Given the description of an element on the screen output the (x, y) to click on. 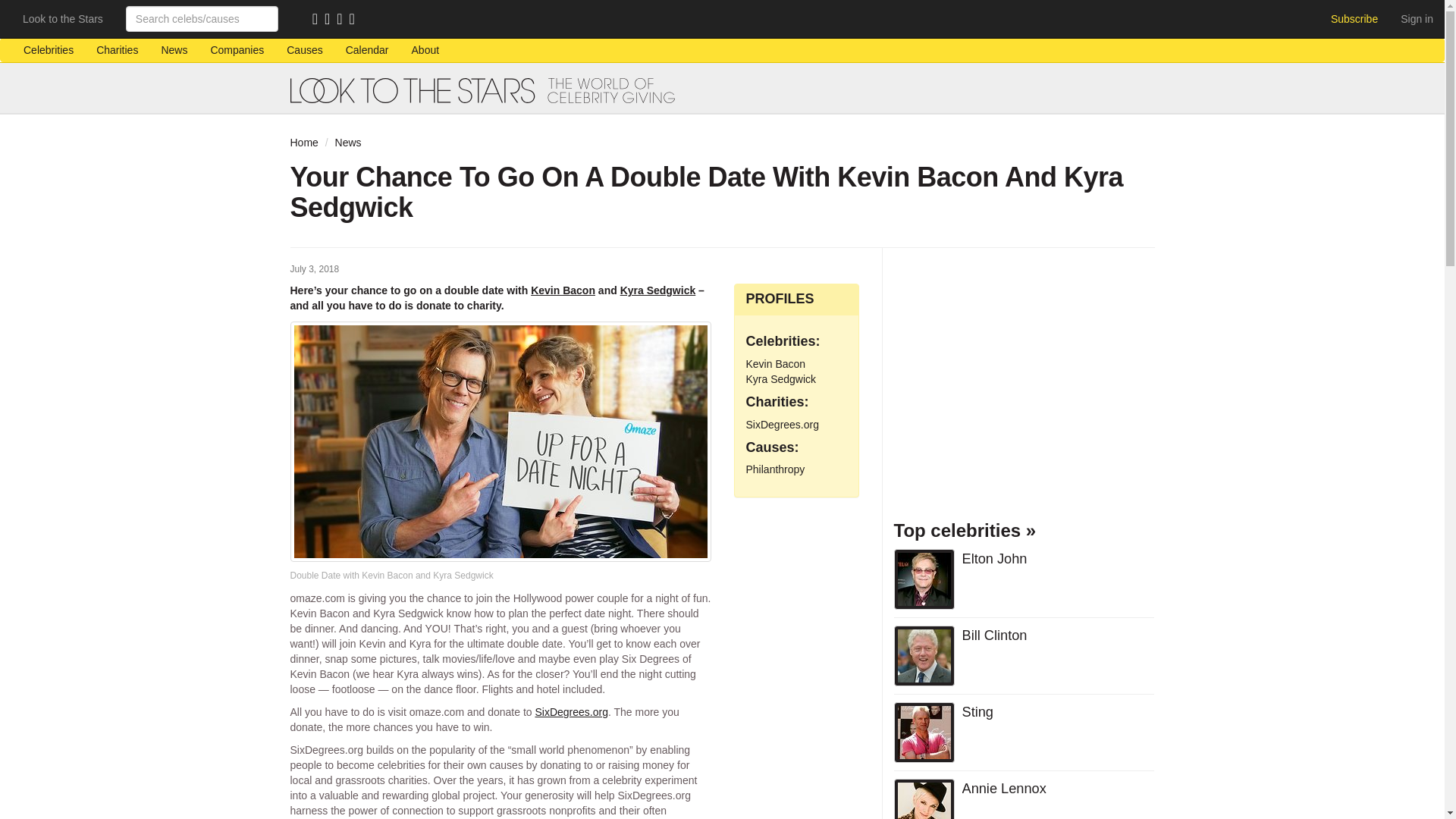
Get our news by email (330, 20)
News (347, 142)
Kyra Sedgwick (780, 378)
Charities (116, 49)
2396 charities with celebrity supporters (116, 49)
Kevin Bacon (563, 290)
Subscribe to our feed (318, 20)
Philanthropy (775, 469)
Follow us on Twitter (342, 20)
Kyra Sedgwick (657, 290)
